Given the description of an element on the screen output the (x, y) to click on. 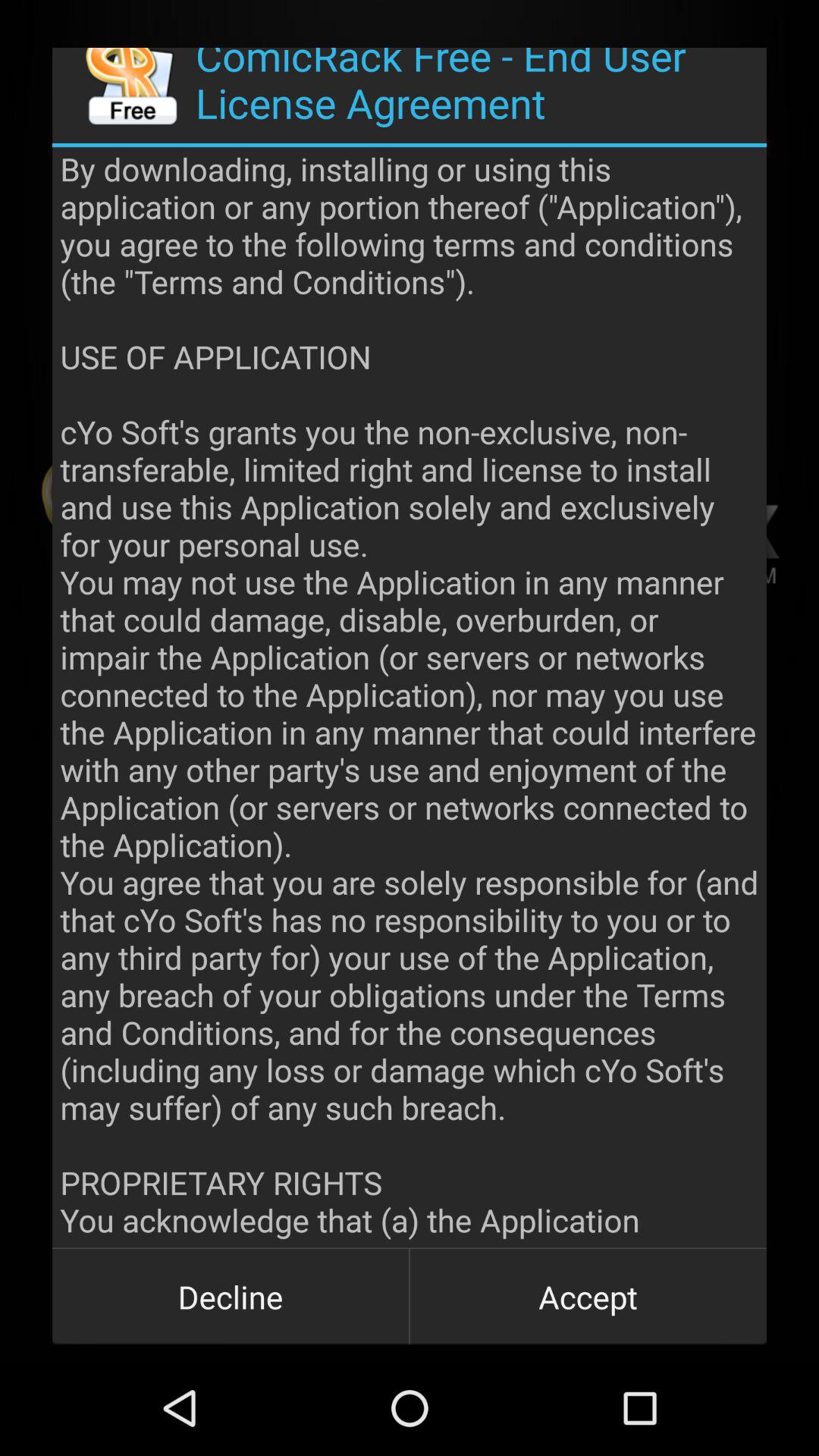
jump to the decline button (230, 1296)
